Given the description of an element on the screen output the (x, y) to click on. 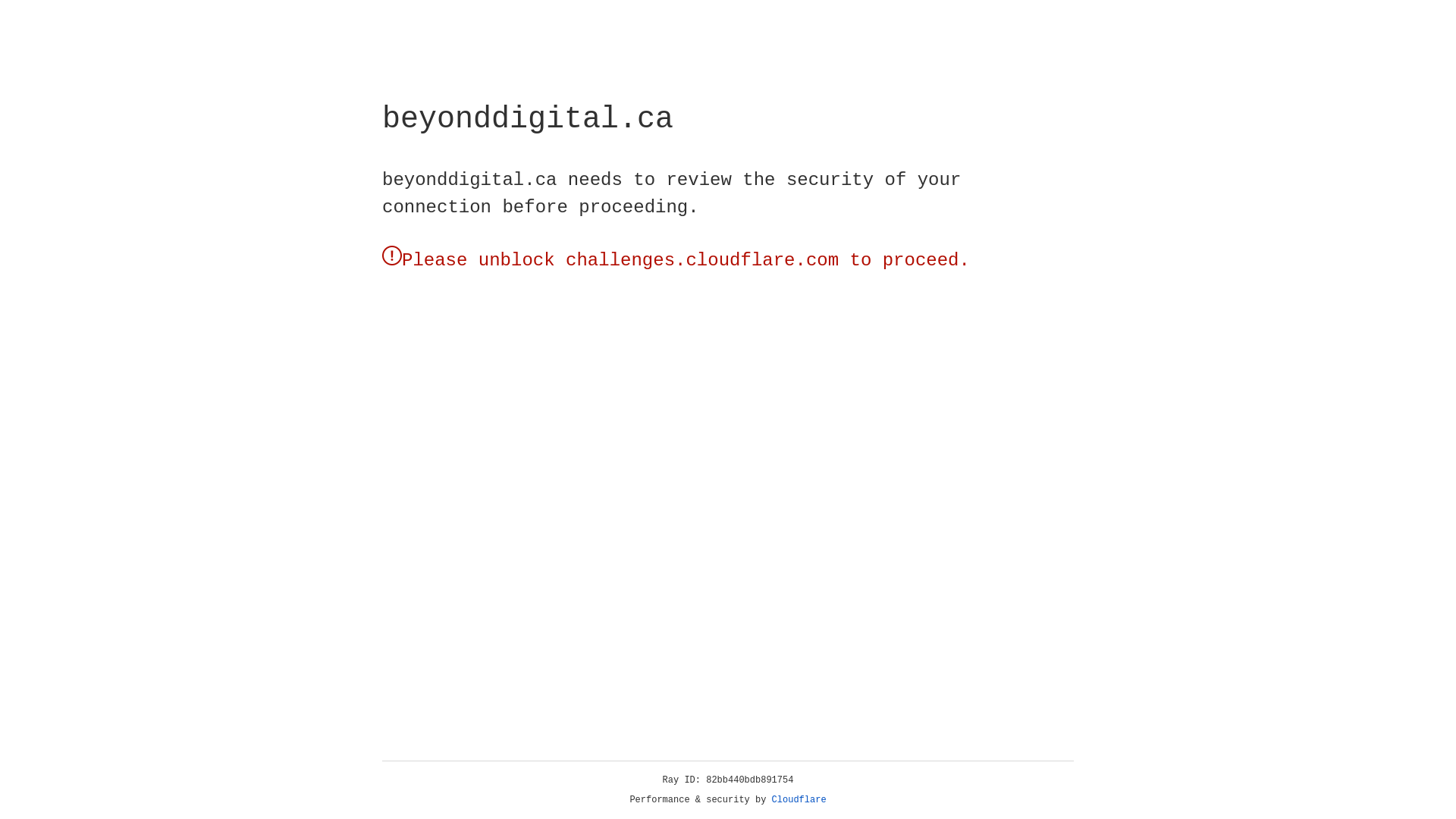
Cloudflare Element type: text (798, 799)
